Given the description of an element on the screen output the (x, y) to click on. 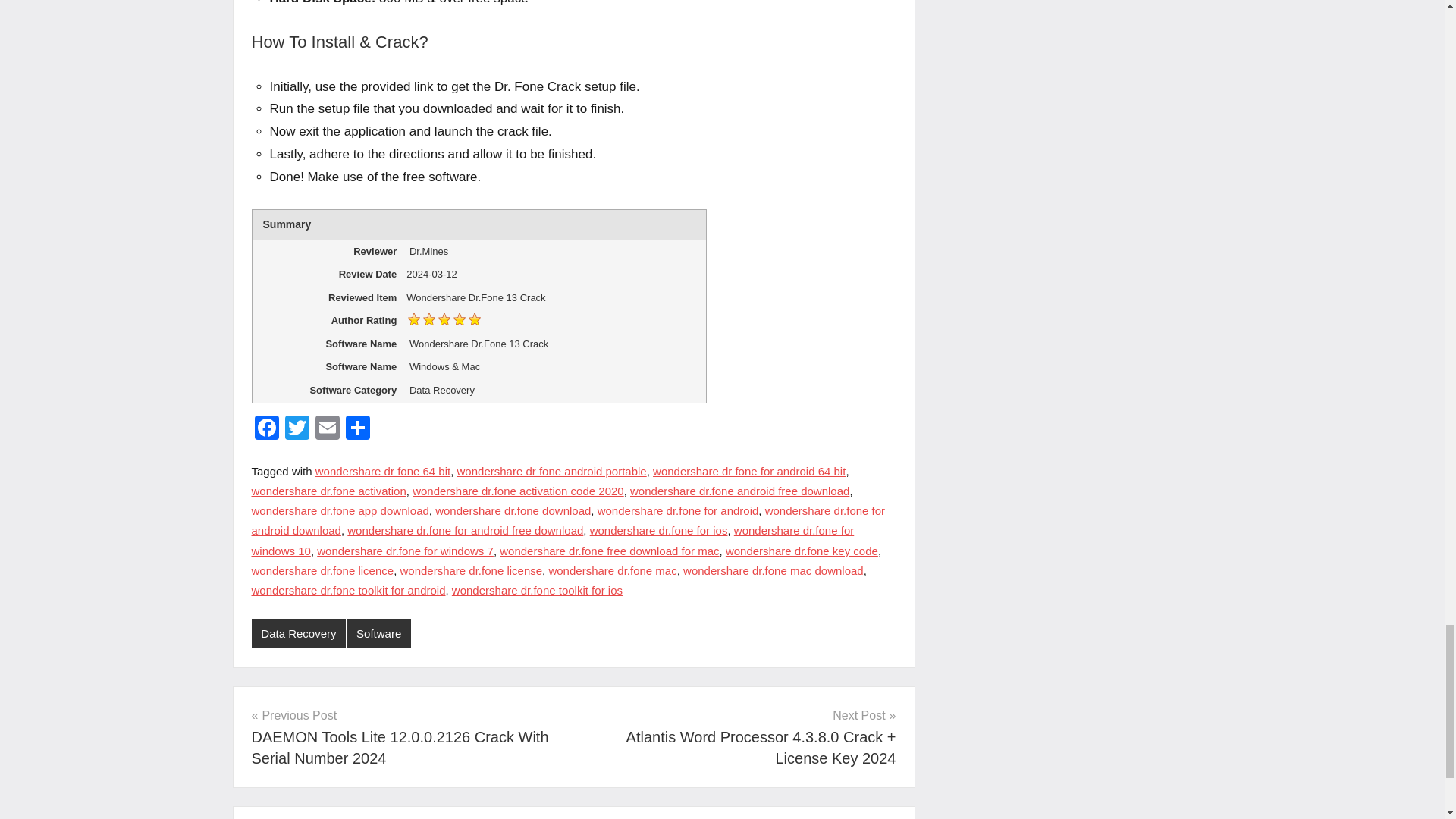
wondershare dr.fone licence (322, 570)
wondershare dr.fone for android download (568, 520)
wondershare dr fone android portable (551, 471)
Email (327, 429)
Email (327, 429)
wondershare dr.fone app download (340, 510)
wondershare dr.fone for ios (658, 530)
Twitter (297, 429)
wondershare dr.fone activation (328, 490)
wondershare dr.fone android free download (739, 490)
